Given the description of an element on the screen output the (x, y) to click on. 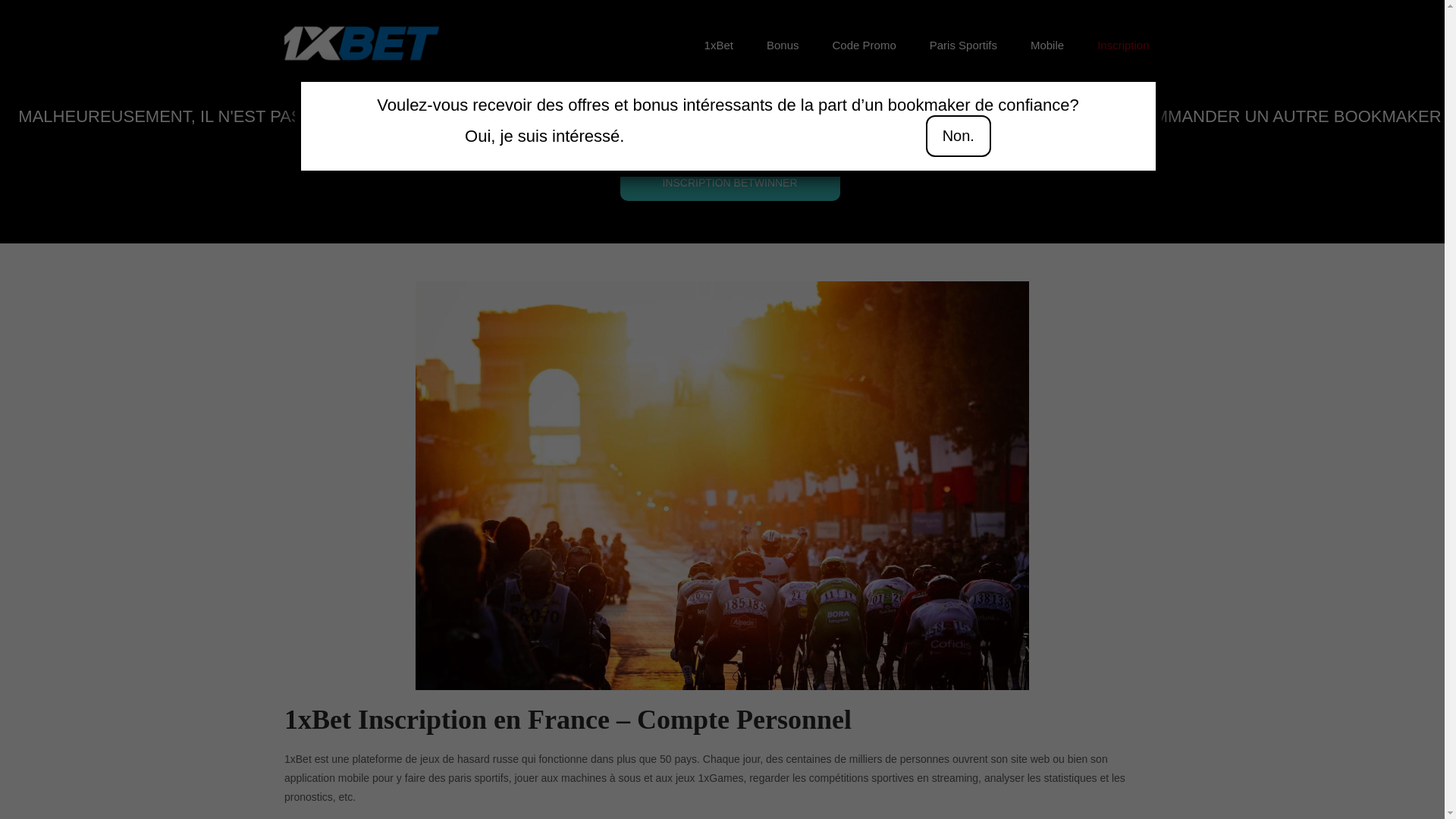
Bonus Element type: text (782, 45)
Code Promo Element type: text (864, 45)
Mobile Element type: text (1046, 45)
INSCRIPTION BETWINNER Element type: text (730, 182)
1xBet Element type: text (718, 45)
Paris Sportifs Element type: text (963, 45)
Inscription Element type: text (1122, 45)
